Given the description of an element on the screen output the (x, y) to click on. 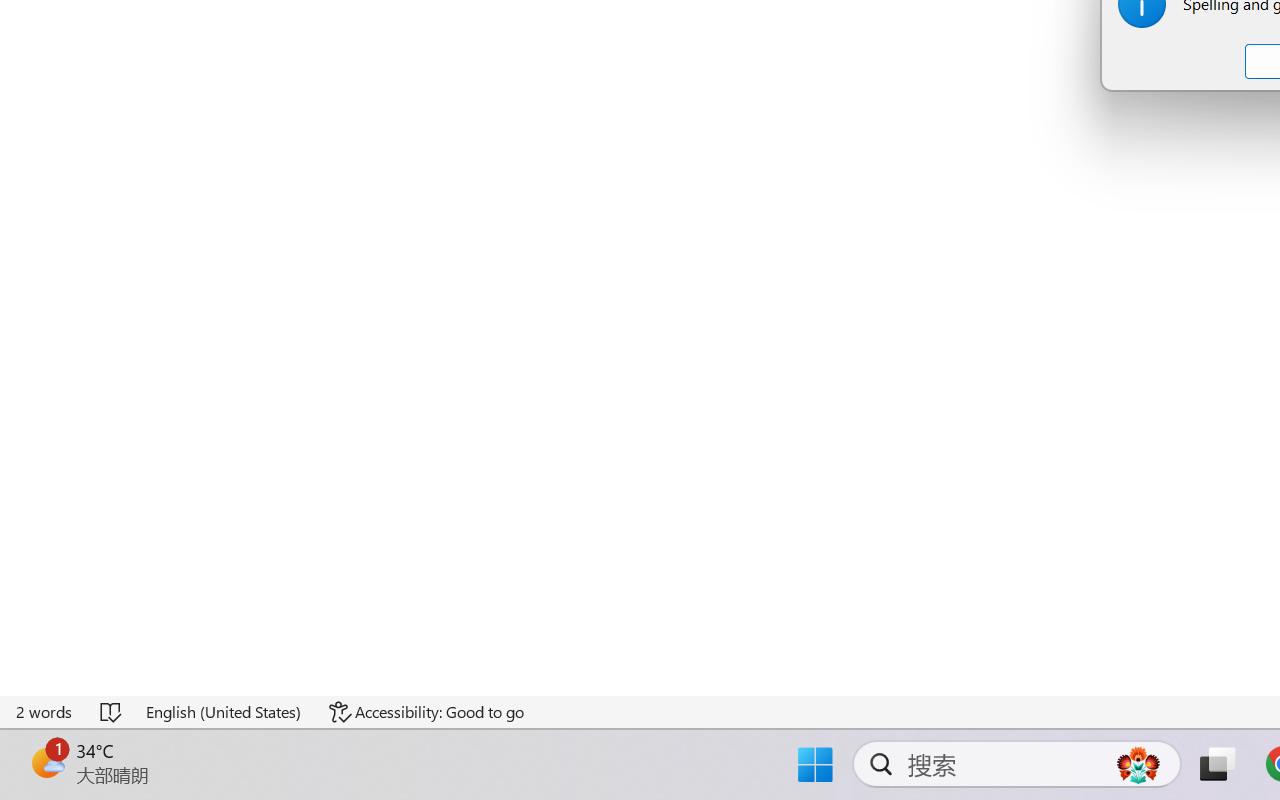
Spelling and Grammar Check No Errors (112, 712)
Language English (United States) (224, 712)
Word Count 2 words (45, 712)
AutomationID: DynamicSearchBoxGleamImage (1138, 764)
AutomationID: BadgeAnchorLargeTicker (46, 762)
Accessibility Checker Accessibility: Good to go (426, 712)
